Given the description of an element on the screen output the (x, y) to click on. 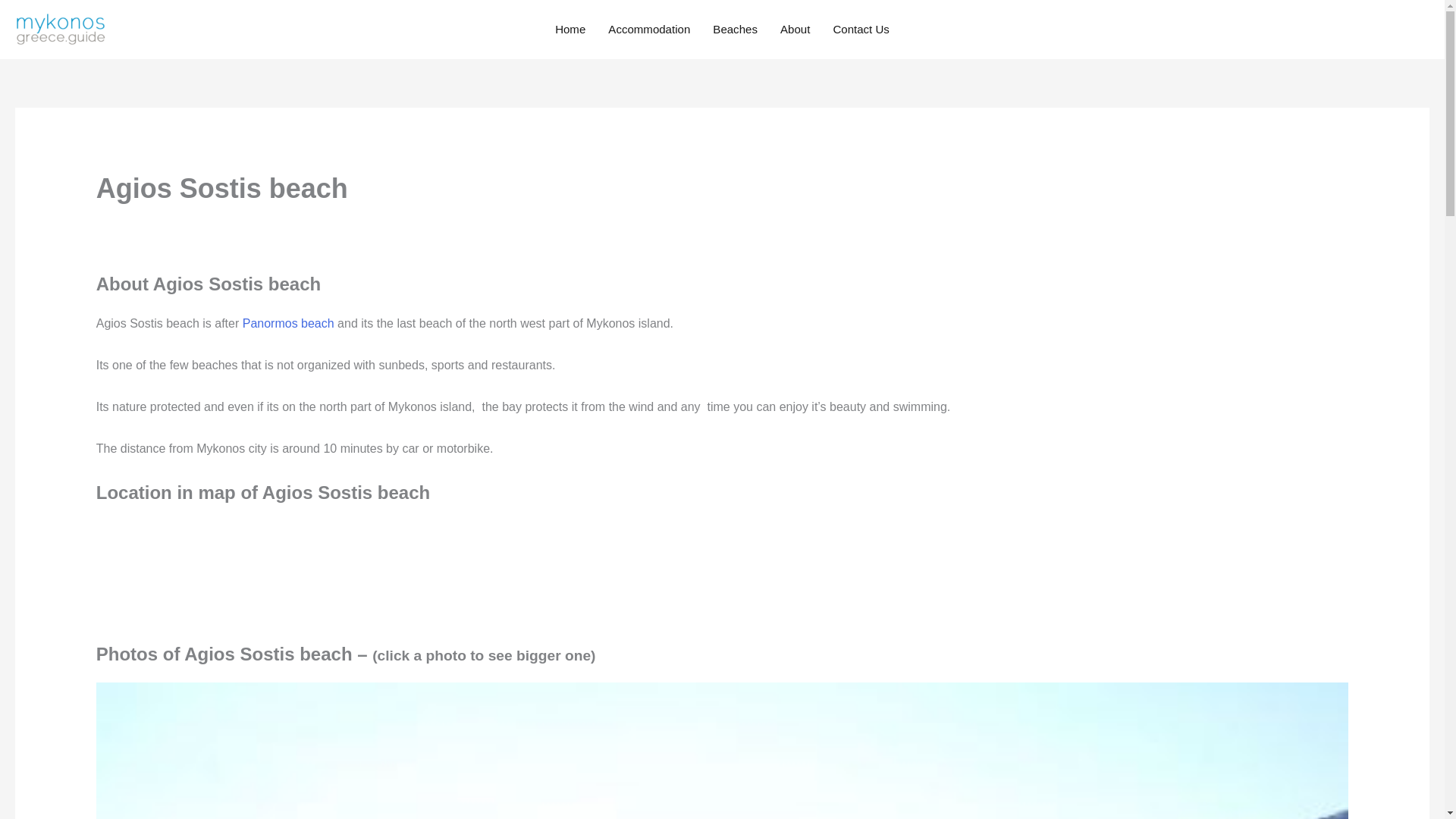
Contact Us (861, 29)
Accommodation (648, 29)
Beaches (734, 29)
About (794, 29)
37.484347 (209, 576)
Home (569, 29)
Panormos beach (288, 323)
